Given the description of an element on the screen output the (x, y) to click on. 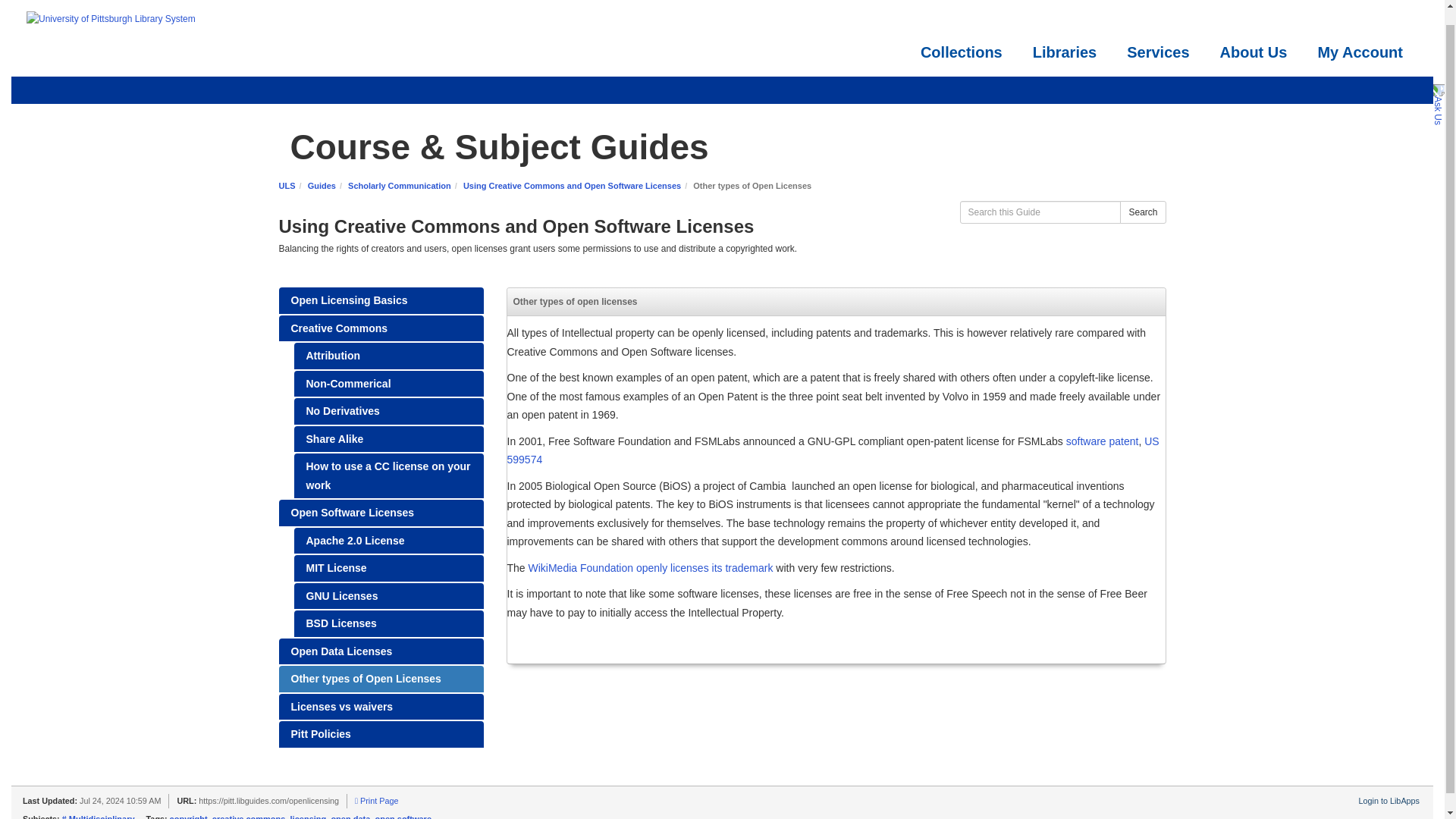
Collections (961, 51)
BSD Licenses (388, 623)
Libraries (1064, 51)
Share Alike (388, 438)
Non-Commerical (388, 384)
Print Page (376, 800)
Licenses vs waivers (381, 706)
MIT License (388, 568)
Open Data Licenses (381, 651)
Scholarly Communication (399, 185)
